Given the description of an element on the screen output the (x, y) to click on. 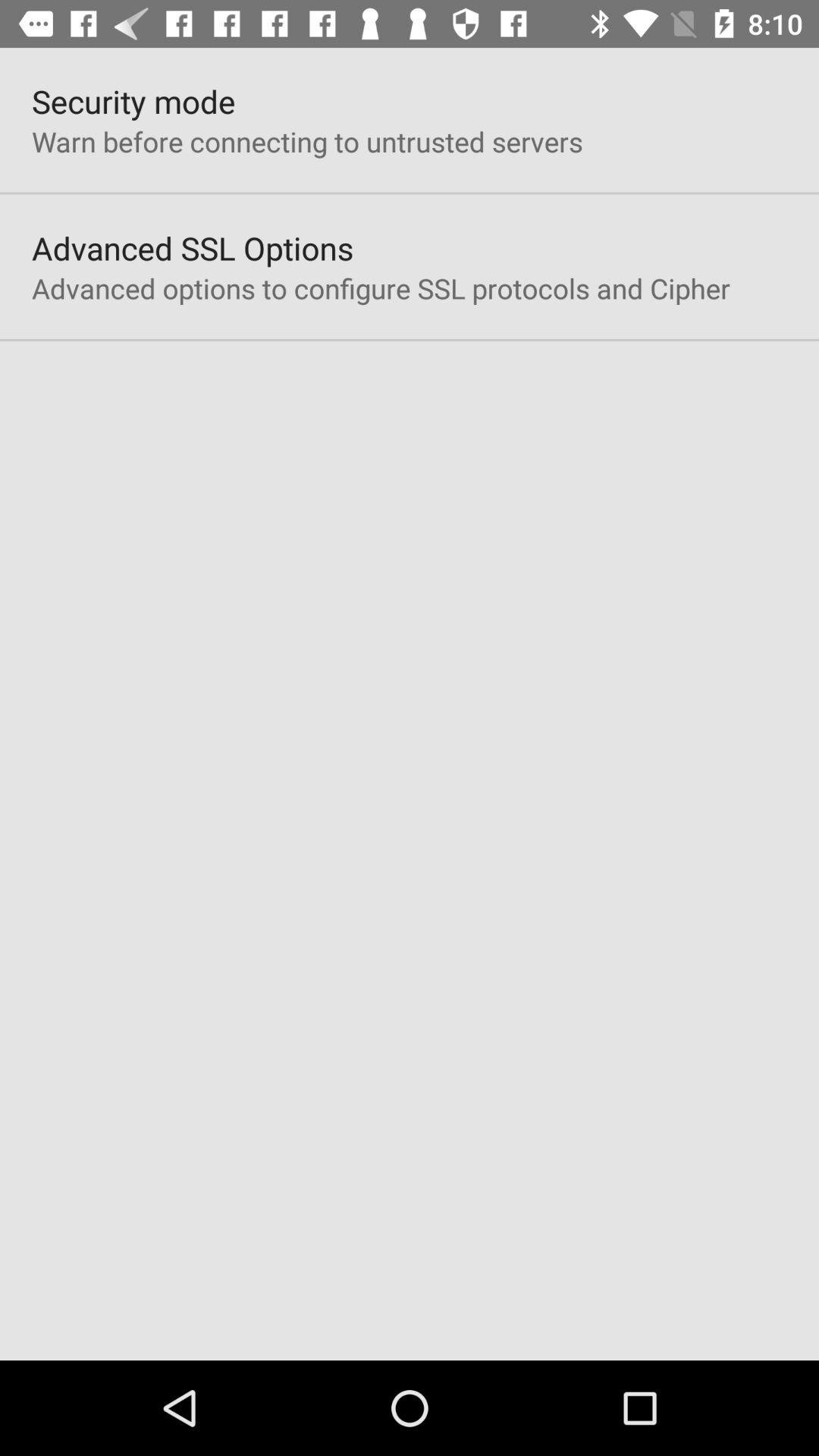
open security mode icon (133, 100)
